Given the description of an element on the screen output the (x, y) to click on. 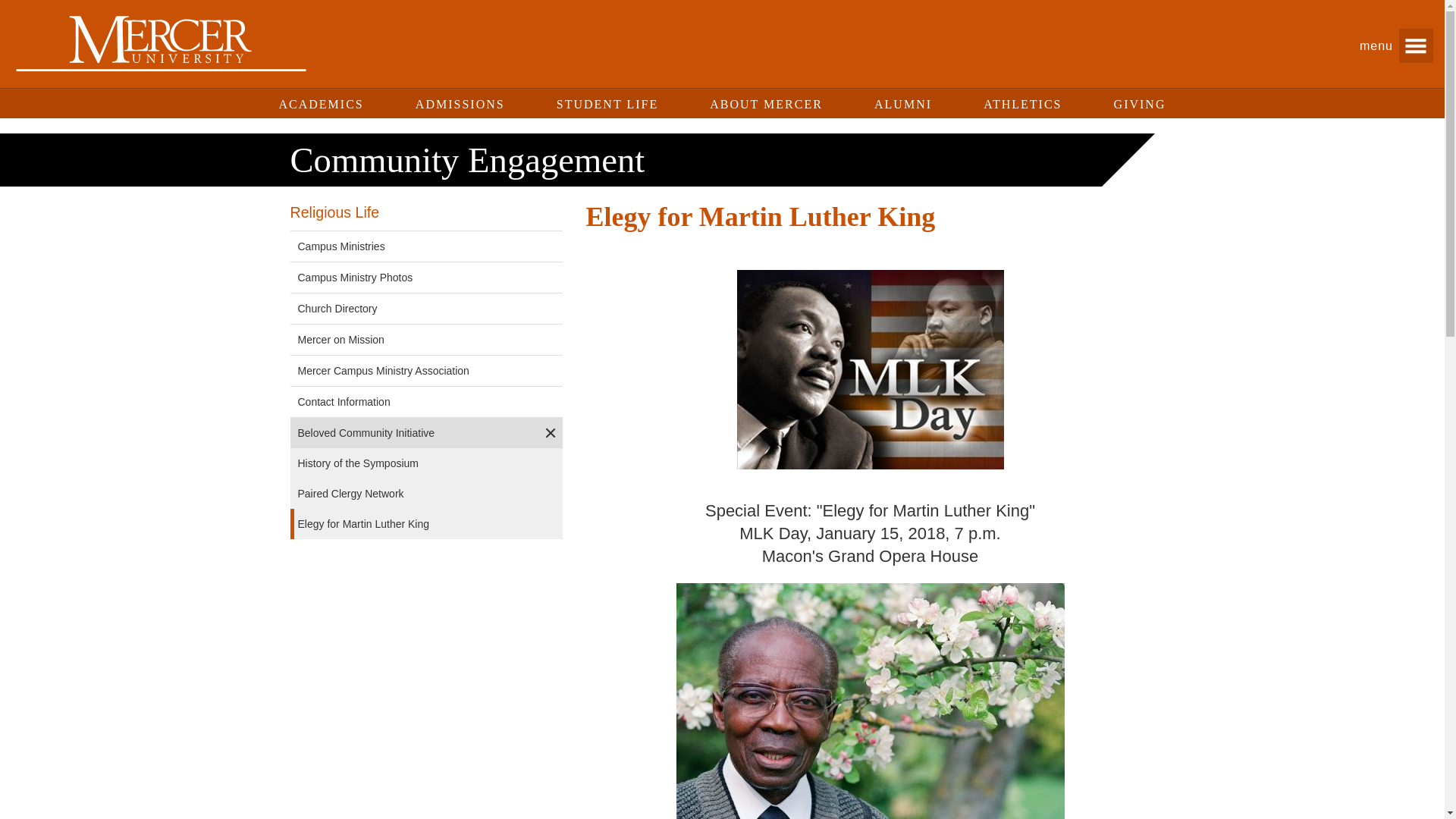
Community Engagement (467, 159)
GIVING (1136, 104)
ACADEMICS (325, 104)
Campus Ministries (414, 246)
Campus Ministry Photos (414, 277)
Beloved Community Initiative (414, 432)
ADMISSIONS (459, 104)
Church Directory (414, 308)
STUDENT LIFE (606, 104)
ABOUT MERCER (765, 104)
